Given the description of an element on the screen output the (x, y) to click on. 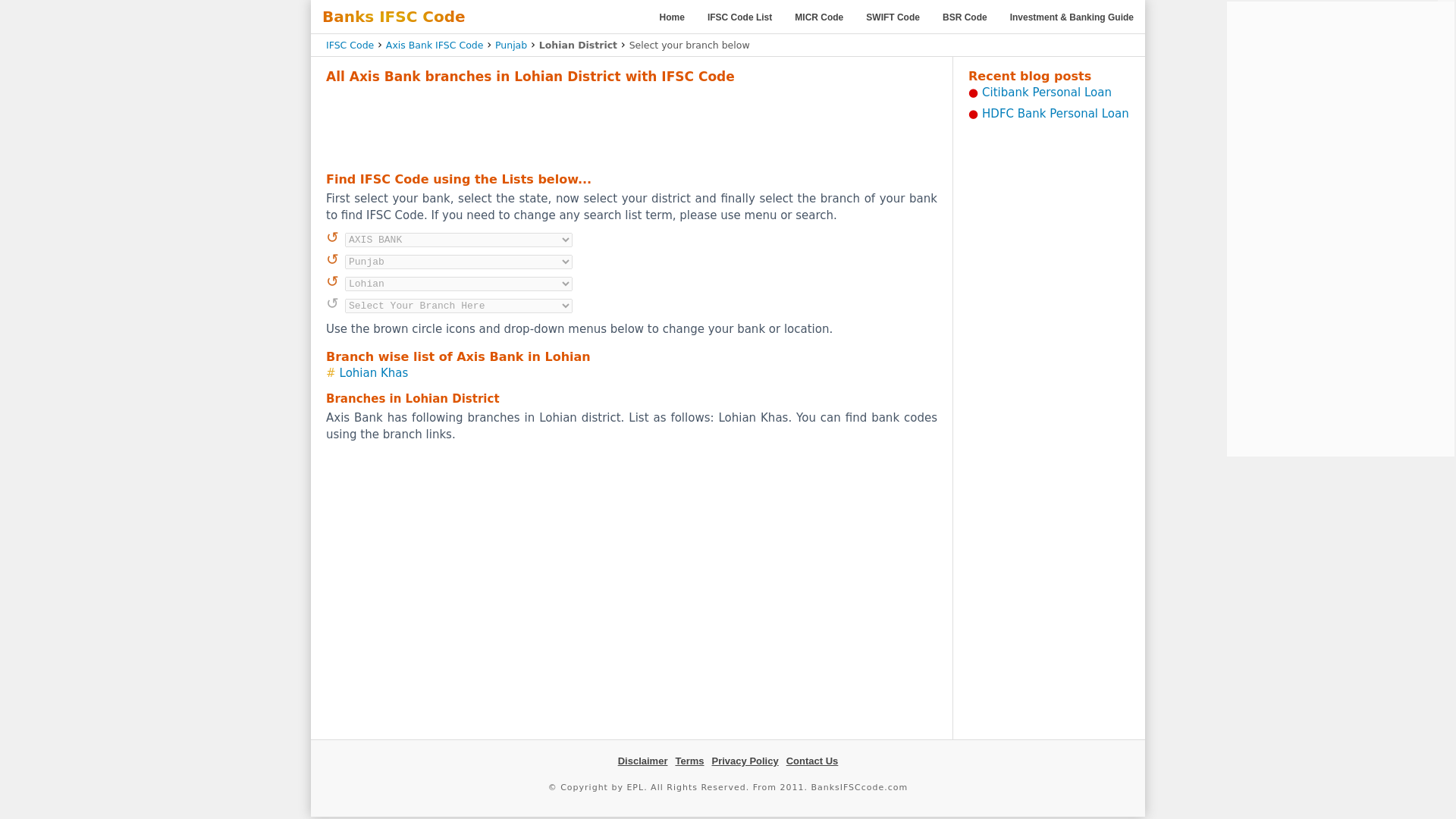
Axis Bank IFSC Code (434, 44)
MICR Code (818, 17)
BSR Code (964, 17)
Terms (689, 760)
IFSC Code List (739, 17)
All Banks MICR Code List (818, 17)
Privacy Policy (744, 760)
Bank Loan, Investment, Banking and Insurance Guide (1072, 17)
All Banks SWIFT Code List (893, 17)
BSR Code List (964, 17)
Citibank Personal Loan (1046, 92)
HDFC Bank Personal Loan (1055, 113)
List of all NEFT enabled banks in India (739, 17)
Find IFSC code of all bank branches (671, 17)
Punjab (511, 44)
